Given the description of an element on the screen output the (x, y) to click on. 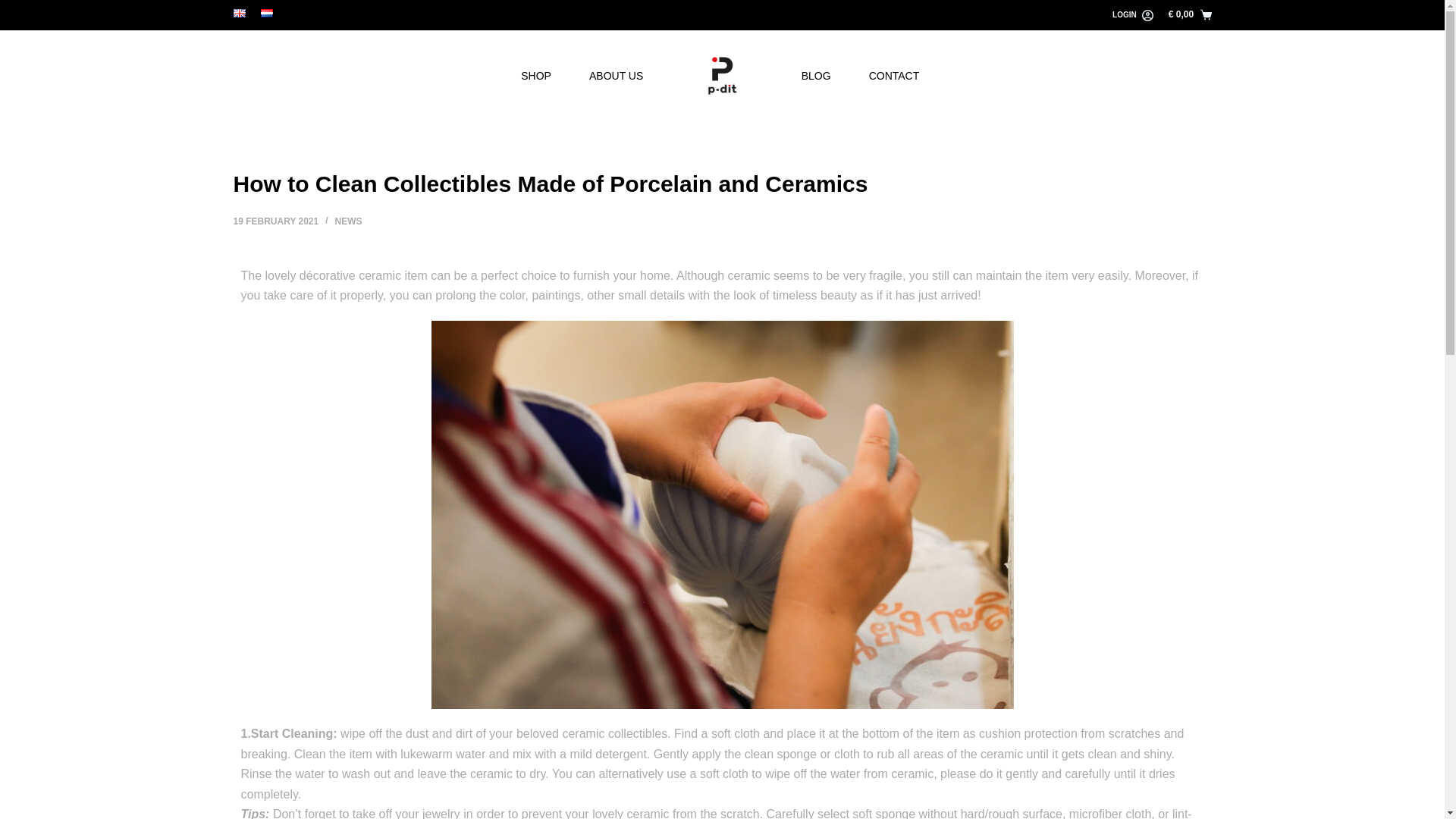
ABOUT US (616, 75)
CONTACT (894, 75)
LOGIN (1132, 15)
How to Clean Collectibles Made of Porcelain and Ceramics (721, 183)
Skip to content (15, 7)
NEWS (348, 221)
